Given the description of an element on the screen output the (x, y) to click on. 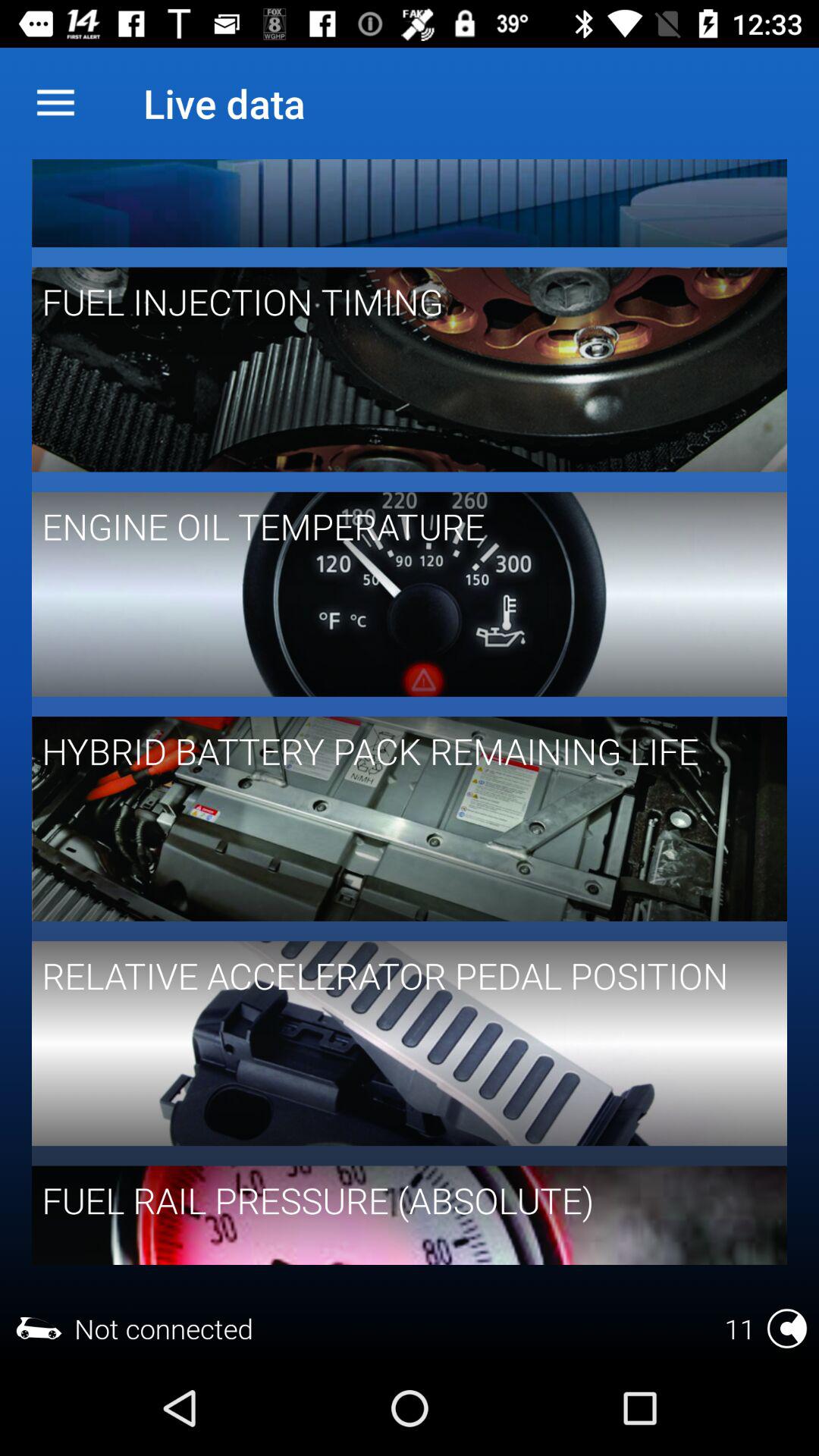
flip until relative accelerator pedal item (398, 975)
